Given the description of an element on the screen output the (x, y) to click on. 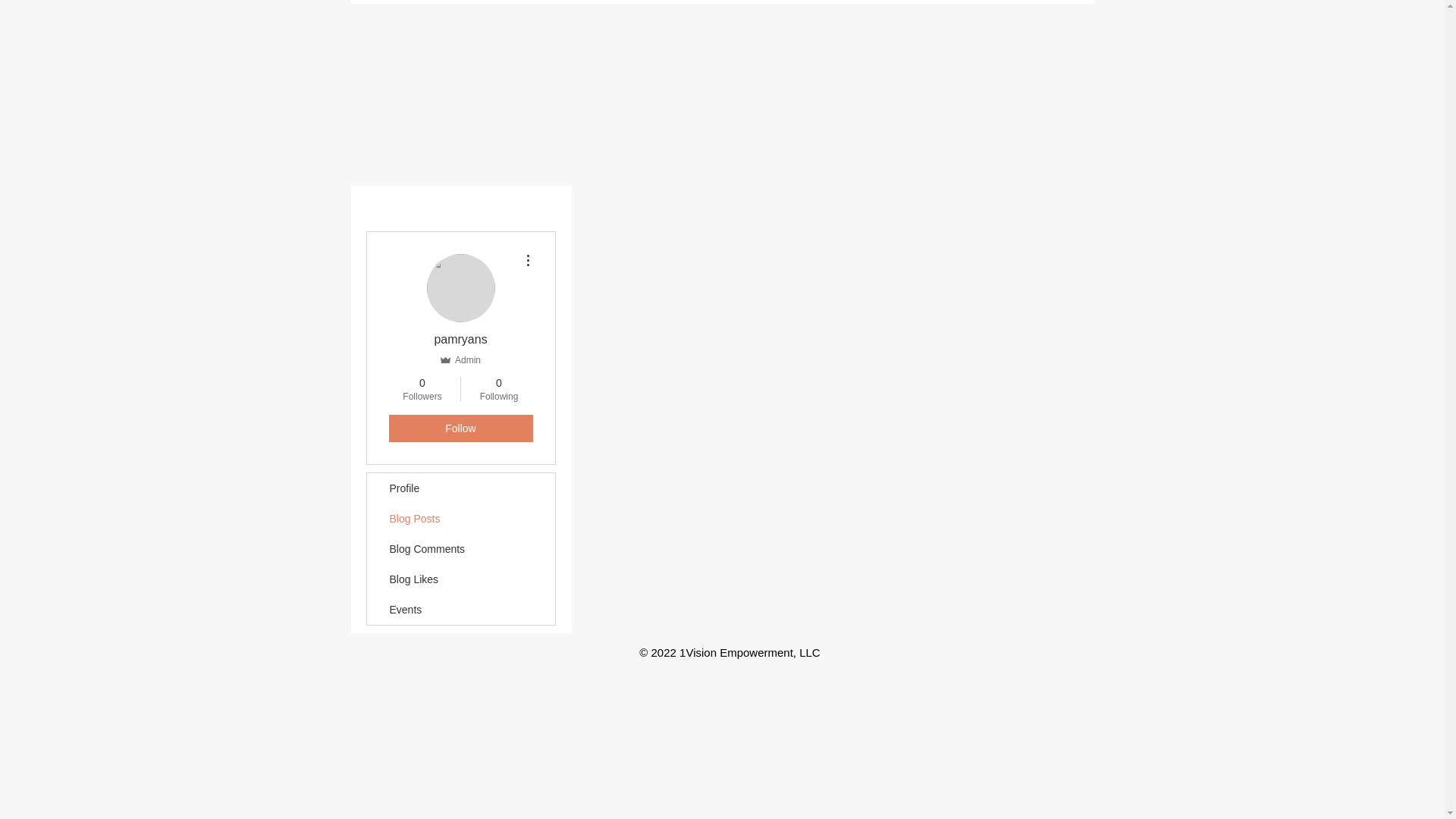
0
Following Element type: text (499, 388)
Profile Element type: text (461, 488)
Events Element type: text (461, 609)
Follow Element type: text (460, 428)
Blog Comments Element type: text (461, 548)
0
Followers Element type: text (421, 388)
Blog Posts Element type: text (461, 518)
Blog Likes Element type: text (461, 579)
